Given the description of an element on the screen output the (x, y) to click on. 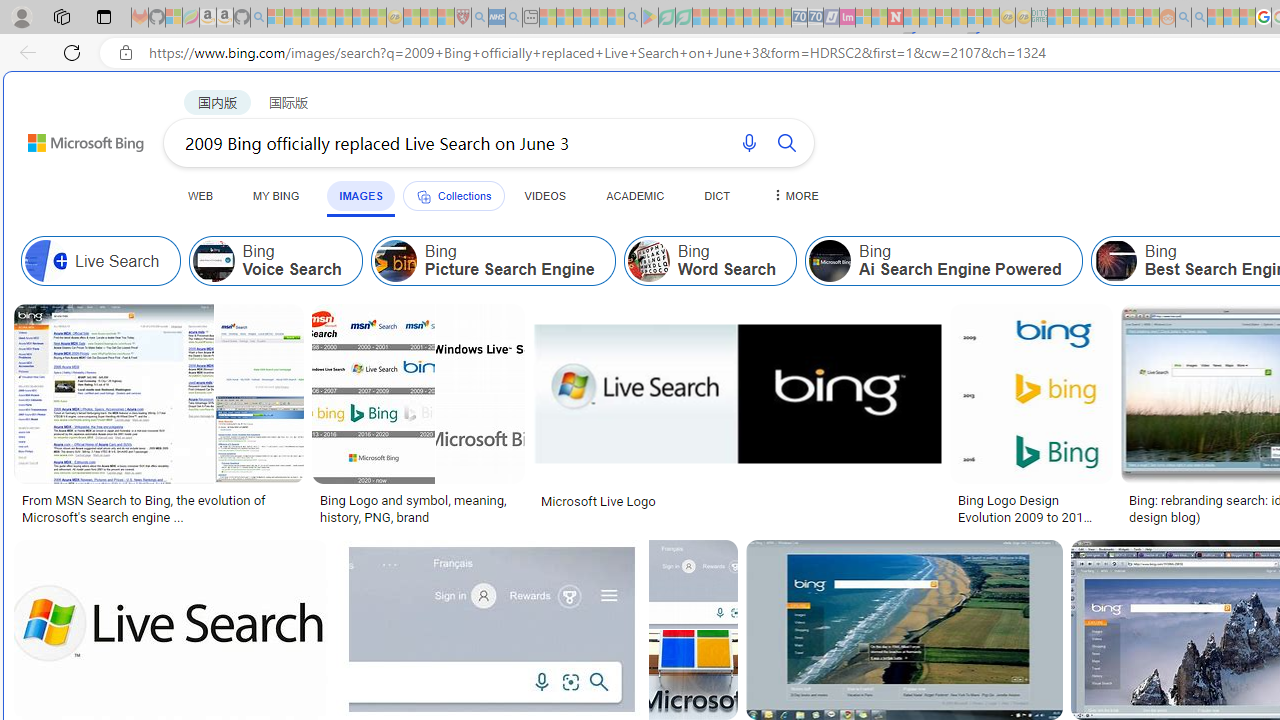
Bing Logo and symbol, meaning, history, PNG, brand (418, 508)
Microsoft Live LogoSave (740, 417)
DITOGAMES AG Imprint - Sleeping (1039, 17)
Cheap Hotels - Save70.com - Sleeping (815, 17)
Bing Ai Search Engine Powered (830, 260)
WEB (201, 195)
MORE (793, 195)
